Given the description of an element on the screen output the (x, y) to click on. 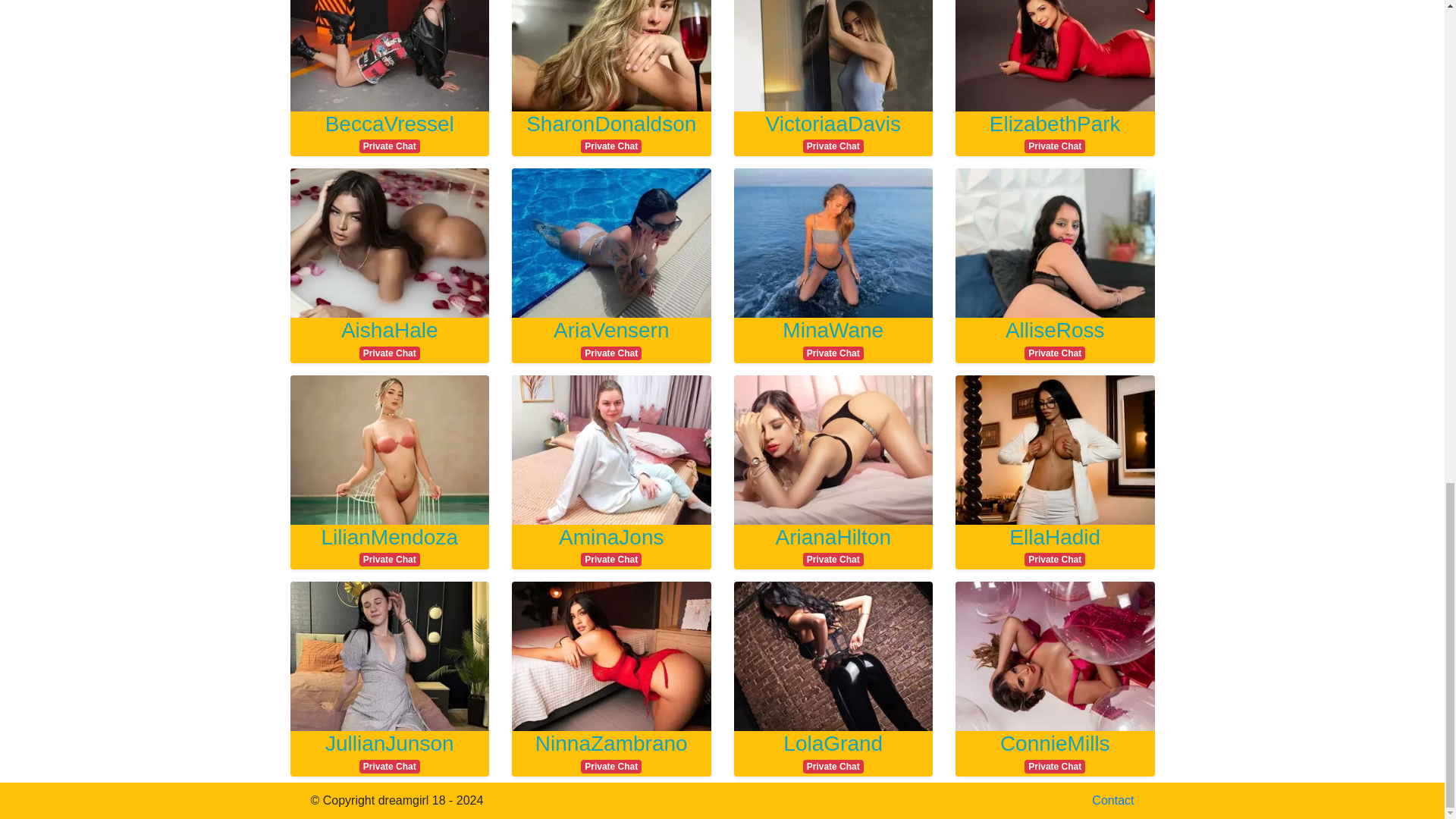
VictoriaaDavis livejasmin (833, 131)
SharonDonaldson livejasmin (1054, 544)
ElizabethPark livejasmin (611, 544)
BeccaVressel livejasmin (389, 337)
SharonDonaldson livejasmin (833, 544)
